Given the description of an element on the screen output the (x, y) to click on. 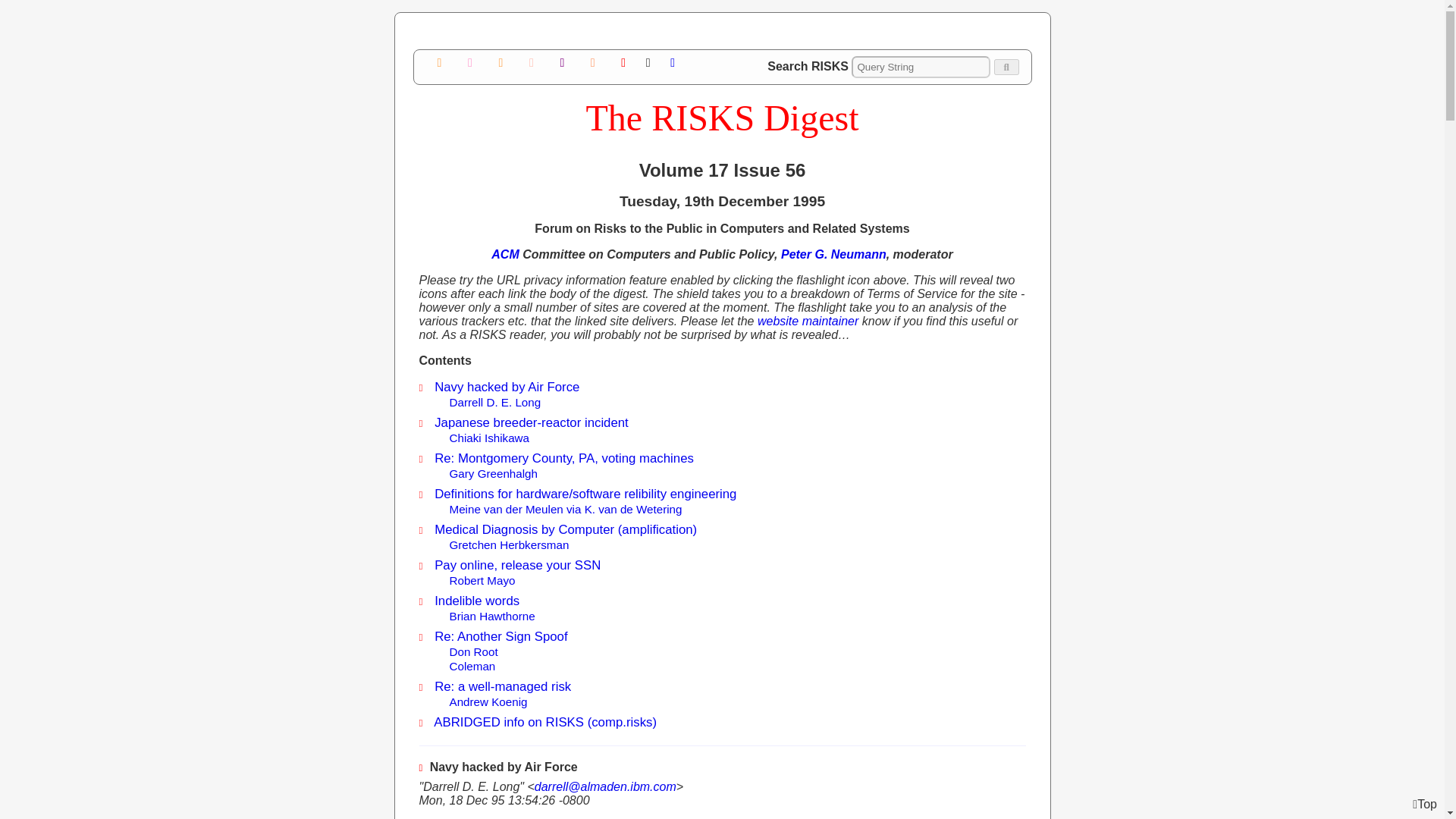
Robert Mayo (481, 580)
Volume 17 Issue 57 (499, 62)
Gary Greenhalgh (492, 472)
Brian Hawthorne (491, 615)
Chiaki Ishikawa (488, 437)
Andrew Koenig (487, 701)
Volume 17 Issue 55 (439, 62)
Re: a well-managed risk (501, 686)
Volume 17 Index (470, 62)
Report a problem with this issue (561, 62)
Pay online, release your SSN (516, 564)
Re: Another Sign Spoof (500, 636)
Gretchen Herbkersman (508, 544)
The latest issue (623, 62)
Submit an article to RISKS (531, 62)
